Given the description of an element on the screen output the (x, y) to click on. 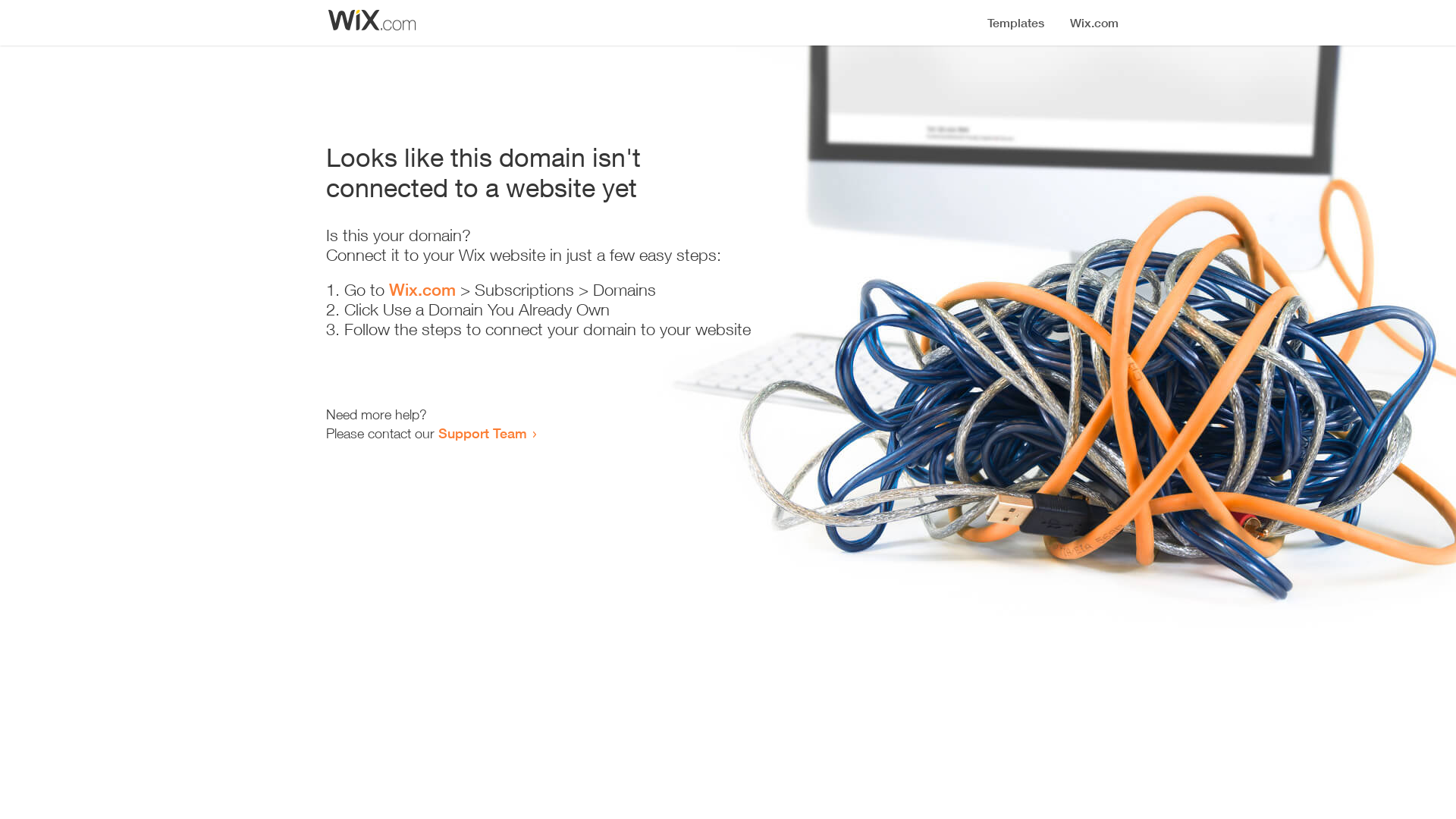
Support Team Element type: text (482, 432)
Wix.com Element type: text (422, 289)
